Given the description of an element on the screen output the (x, y) to click on. 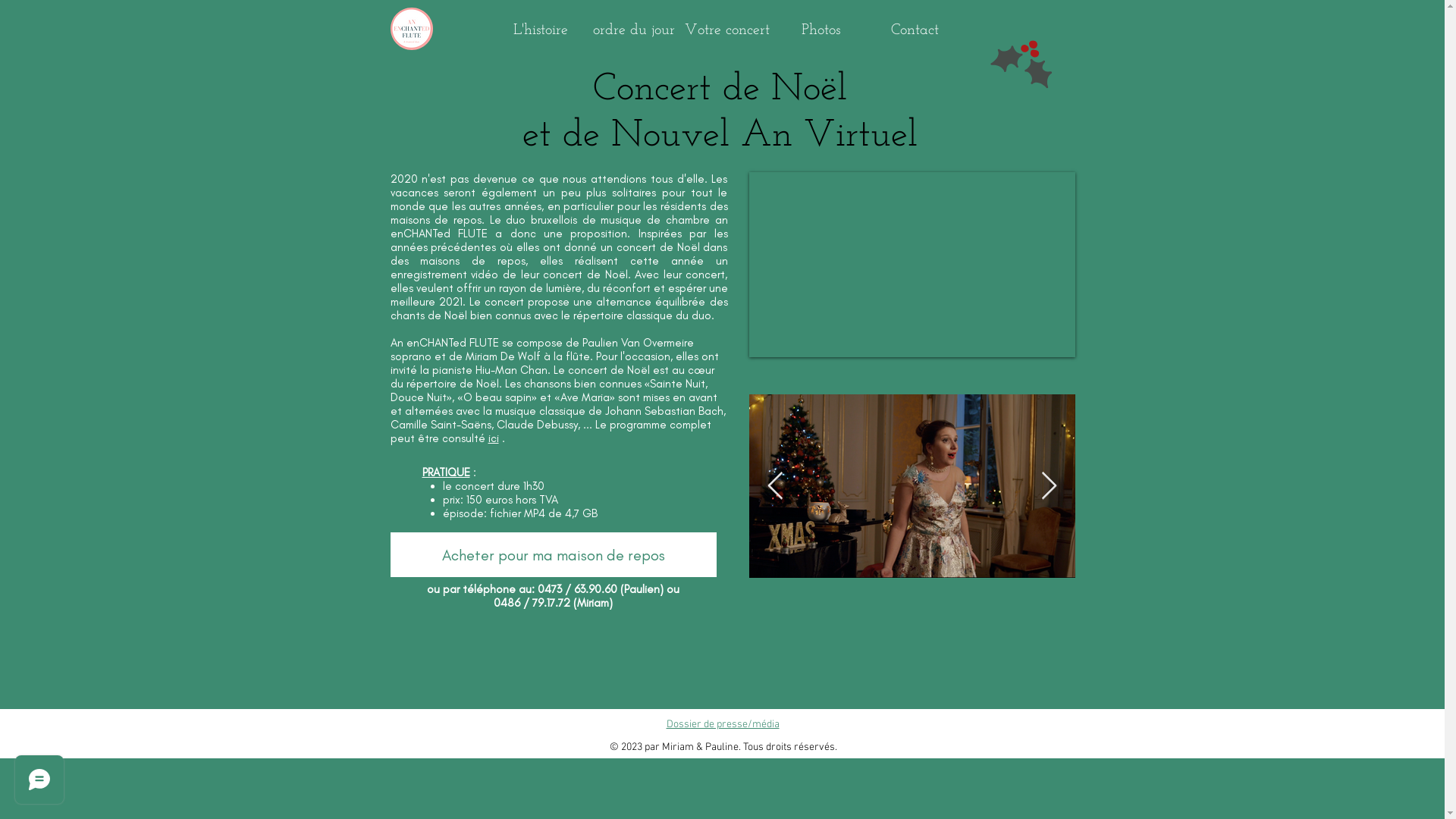
Photos Element type: text (819, 28)
L'histoire Element type: text (540, 29)
ici Element type: text (493, 438)
Contact Element type: text (914, 28)
ordre du jour Element type: text (633, 28)
Acheter pour ma maison de repos Element type: text (552, 554)
Votre concert Element type: text (726, 28)
